Given the description of an element on the screen output the (x, y) to click on. 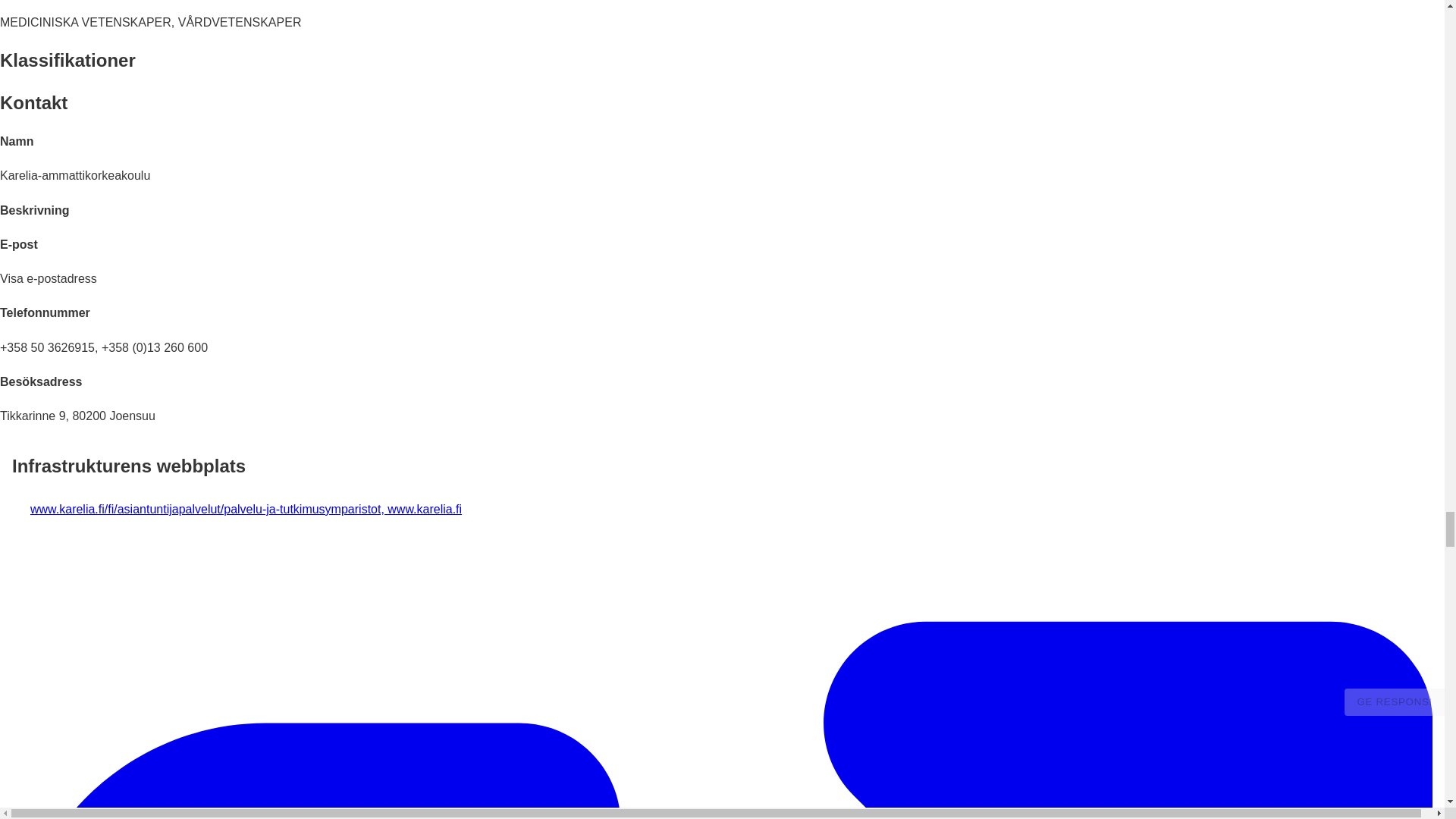
Visa e-postadress (48, 278)
